Given the description of an element on the screen output the (x, y) to click on. 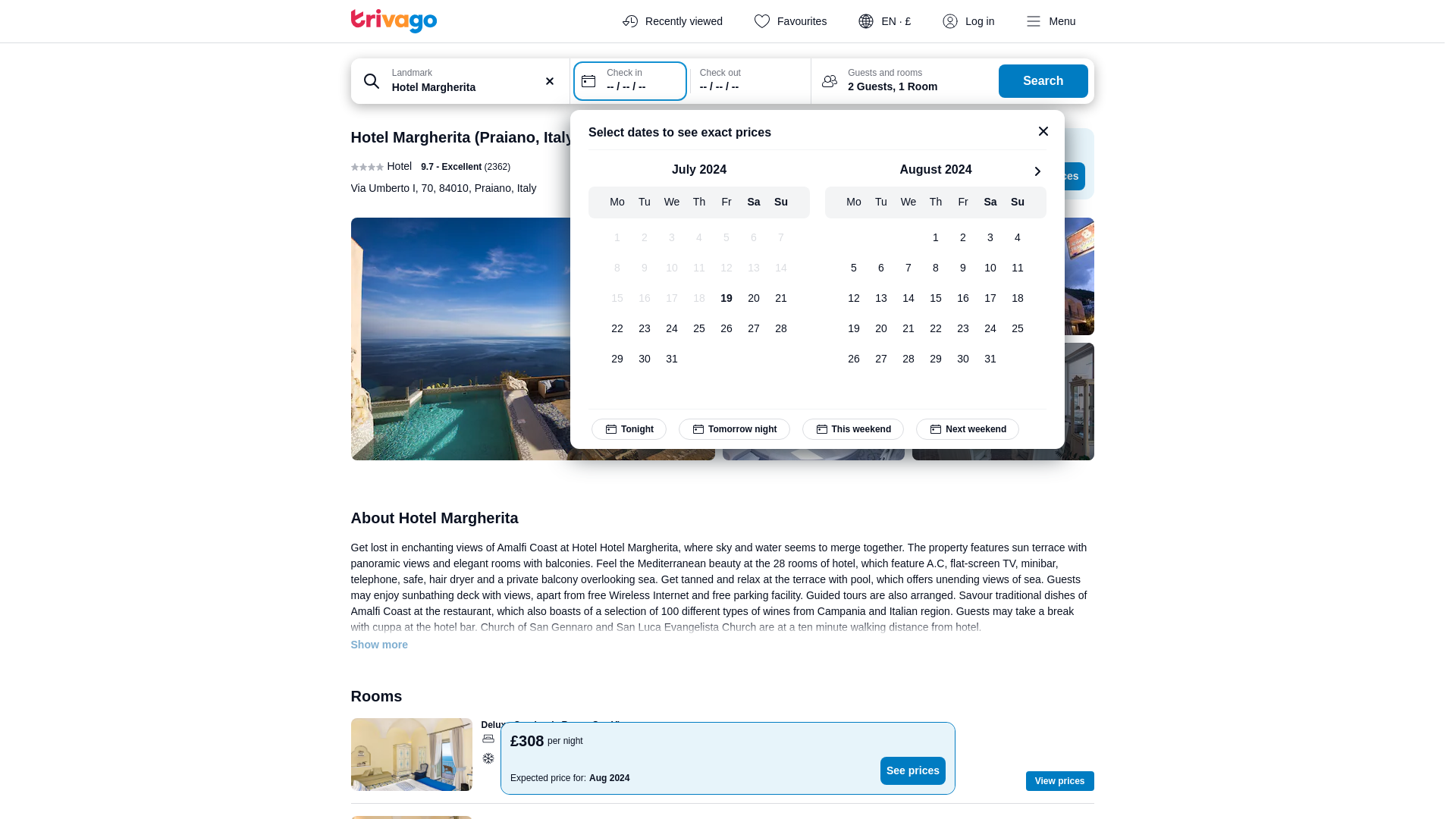
9 (644, 267)
trivago logo (393, 21)
Free WiFi (664, 757)
19 (726, 298)
5 (726, 237)
20 (753, 298)
12 (726, 267)
4 (699, 237)
Favourites (792, 21)
Search (1042, 80)
Hotel Margherita (475, 86)
Hotel Margherita (475, 86)
8 (617, 267)
14 (780, 267)
